Given the description of an element on the screen output the (x, y) to click on. 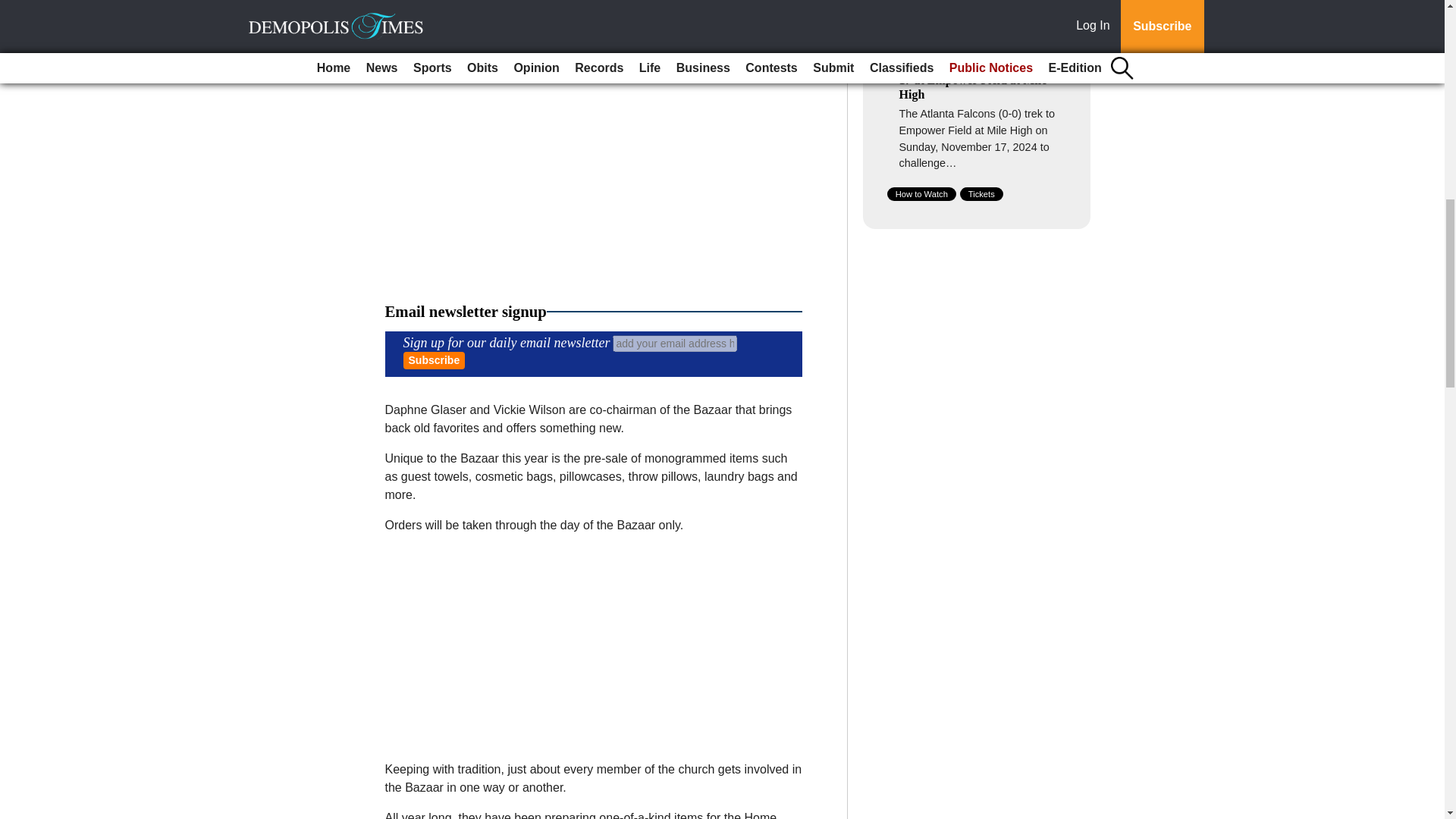
Tickets (981, 193)
Subscribe (434, 360)
How to Watch (921, 193)
Subscribe (434, 360)
